Given the description of an element on the screen output the (x, y) to click on. 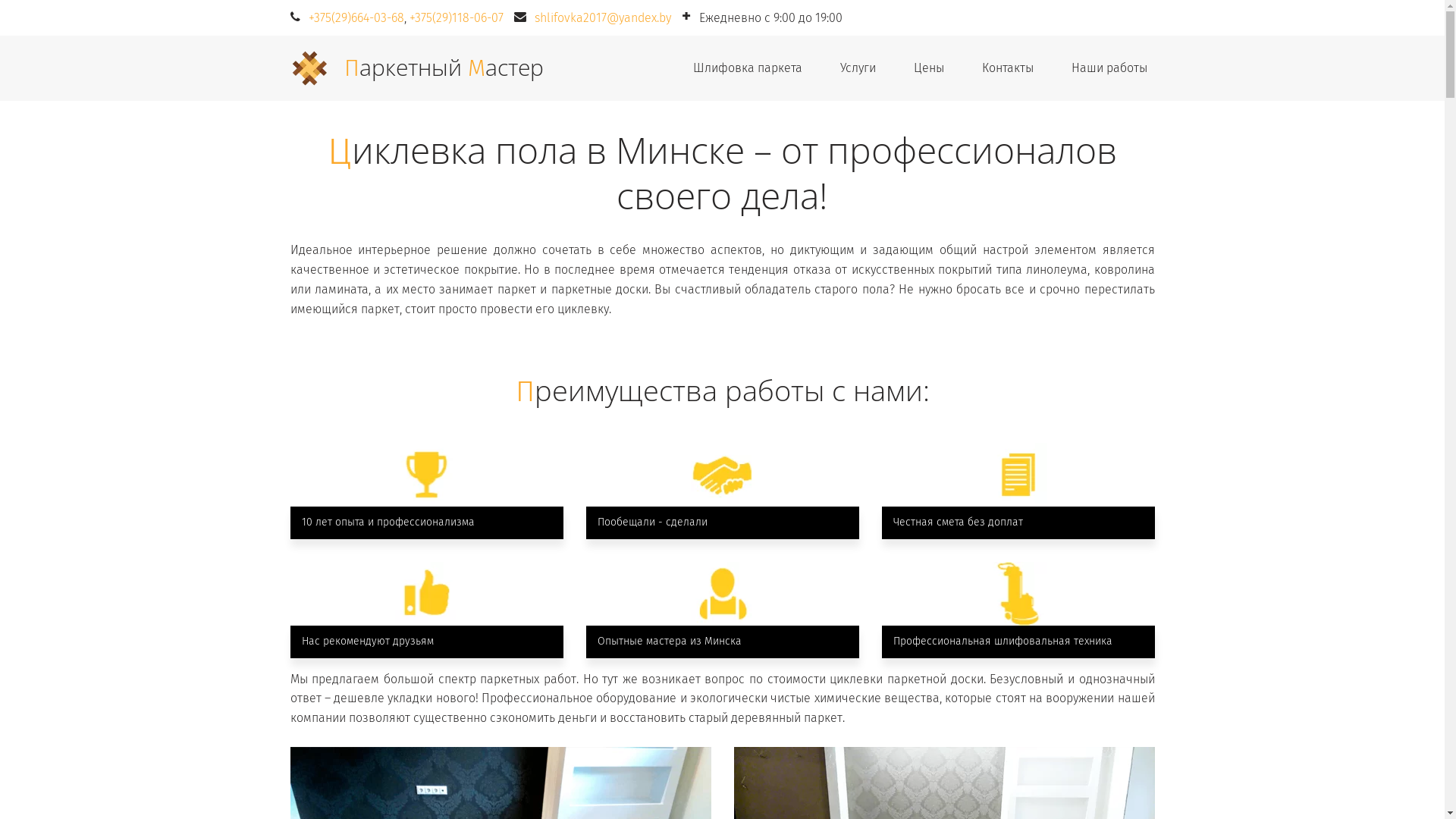
shlifovka2017@yandex.by Element type: text (601, 17)
+375(29)664-03-68 Element type: text (355, 17)
+375(29)118-06-07 Element type: text (456, 17)
